Given the description of an element on the screen output the (x, y) to click on. 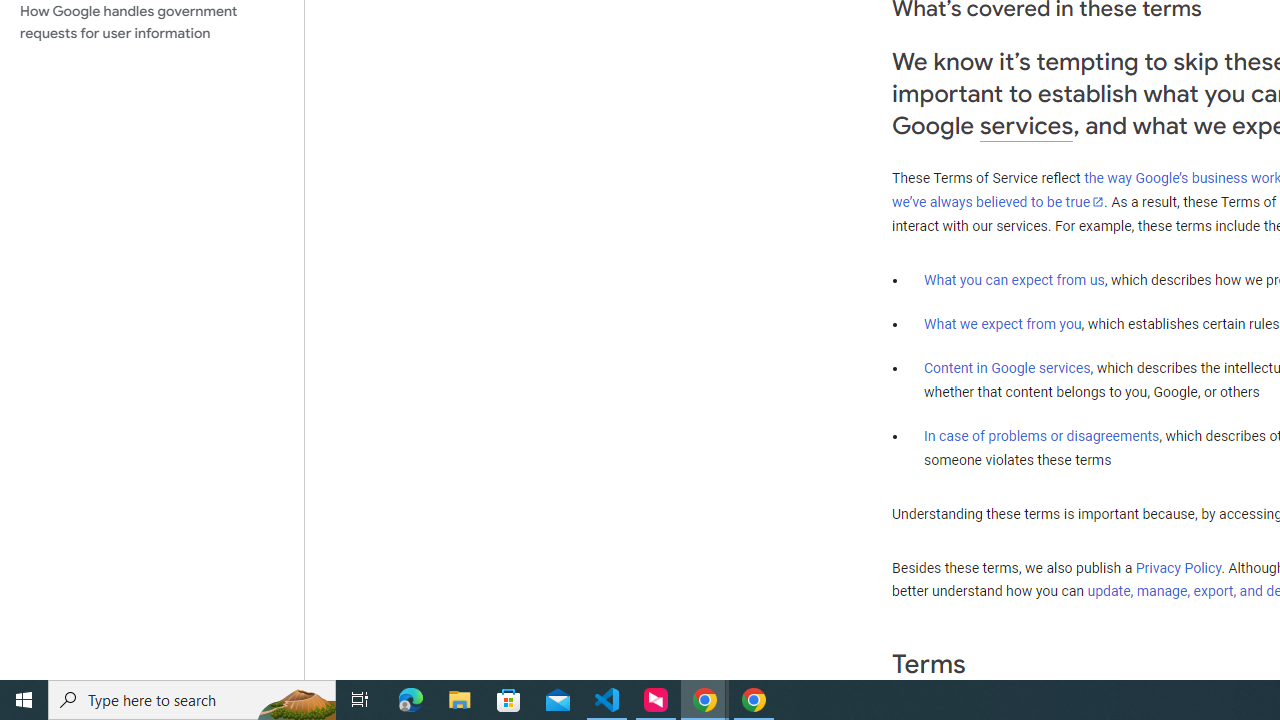
What you can expect from us (1014, 279)
Content in Google services (1007, 368)
What we expect from you (1002, 323)
services (1026, 125)
In case of problems or disagreements (1041, 435)
